Given the description of an element on the screen output the (x, y) to click on. 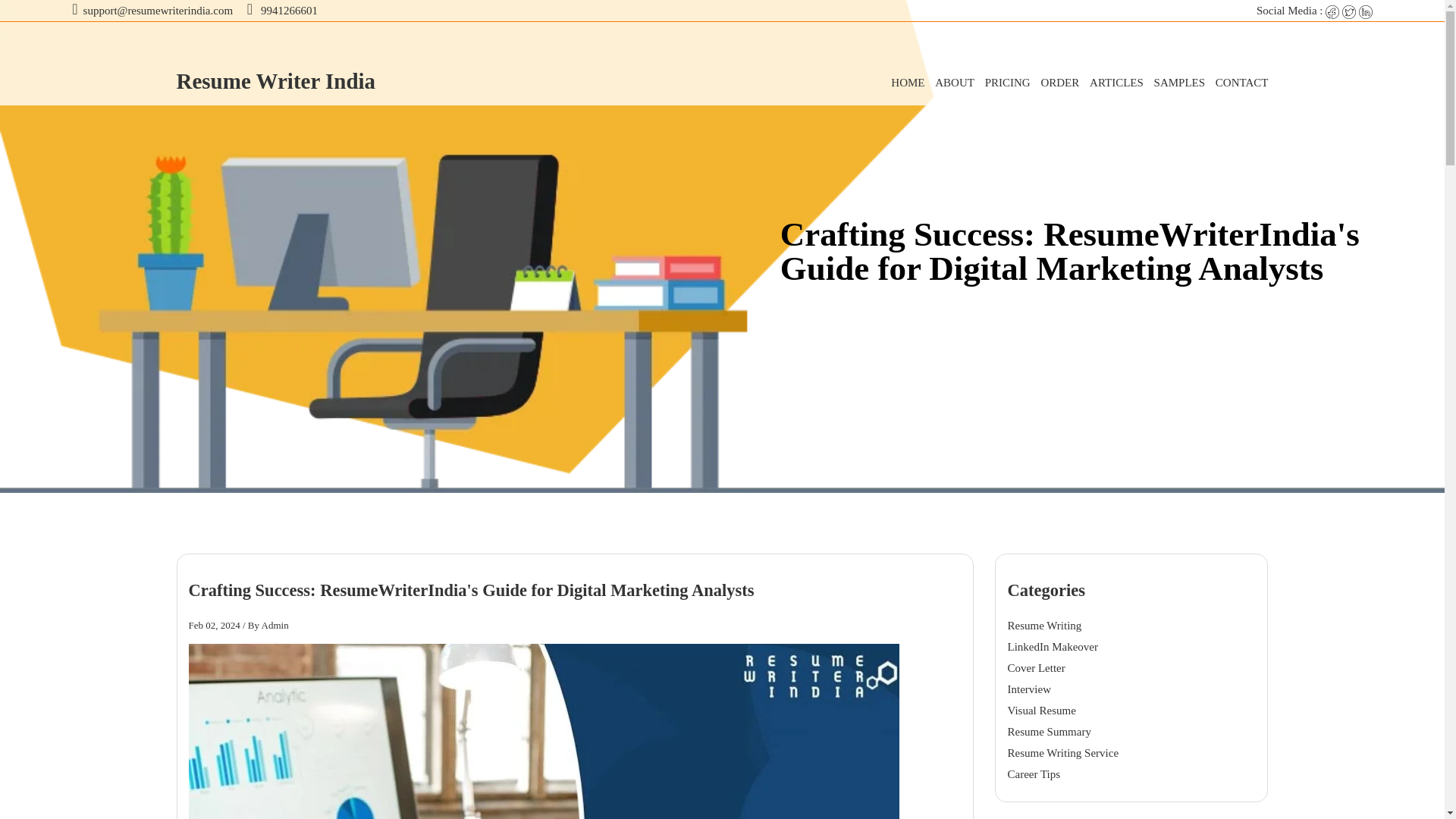
Interview (1029, 689)
LinkedIn Makeover (1056, 647)
ORDER (1055, 82)
CONTACT (1238, 82)
ABOUT (950, 82)
HOME (903, 82)
Visual Resume (1041, 710)
Cover Letter (1036, 667)
ARTICLES (1111, 82)
PRICING (1003, 82)
